Given the description of an element on the screen output the (x, y) to click on. 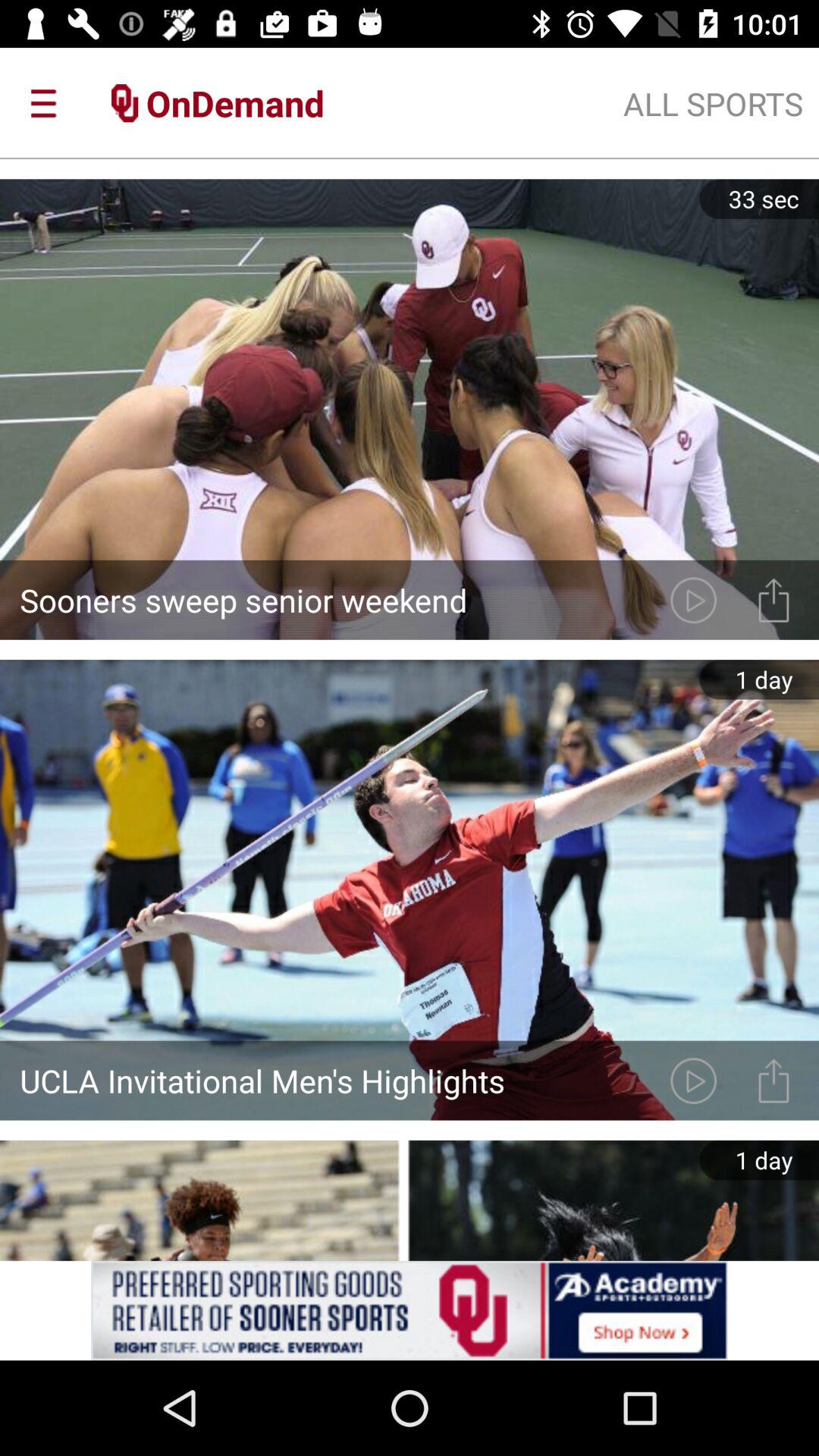
play (693, 1080)
